Given the description of an element on the screen output the (x, y) to click on. 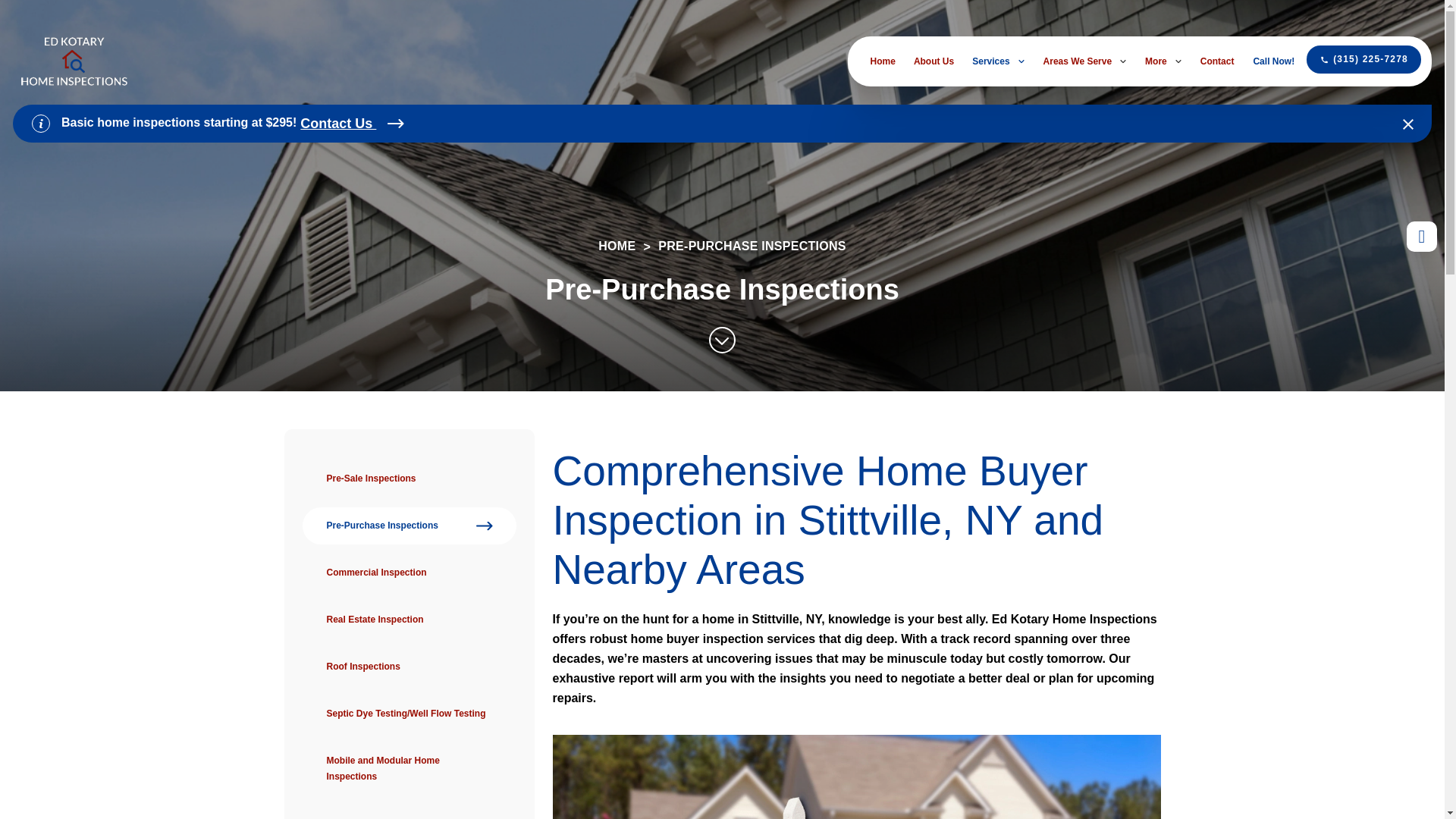
Contact Us (351, 123)
Areas We Serve (1084, 60)
Image 30 (855, 776)
Contact (1216, 60)
Services (998, 60)
More (1163, 60)
About Us (933, 60)
Home (882, 60)
